Given the description of an element on the screen output the (x, y) to click on. 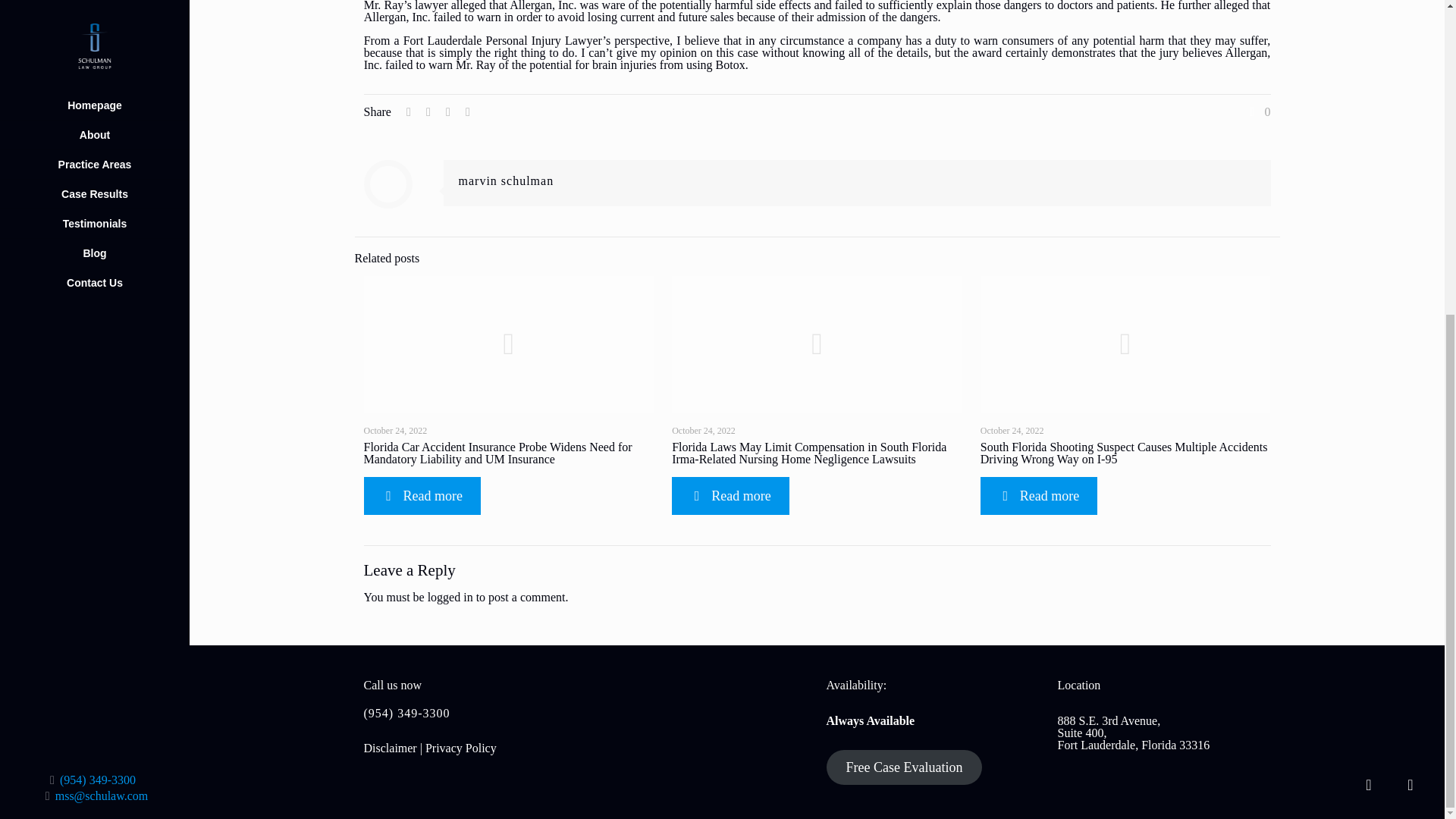
Read more (730, 495)
0 (1258, 111)
Read more (422, 495)
marvin schulman (505, 180)
Read more (1038, 495)
